Given the description of an element on the screen output the (x, y) to click on. 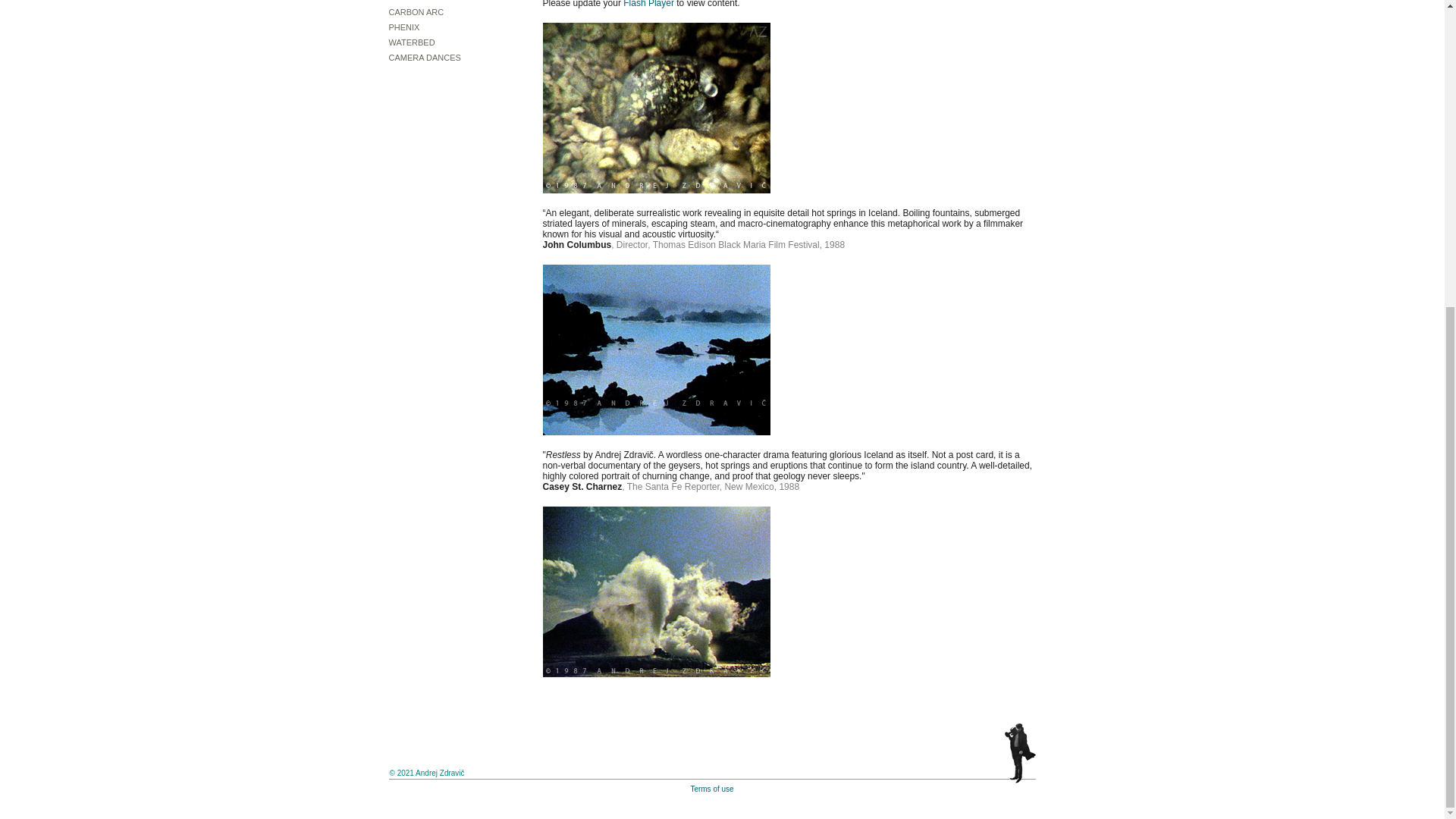
CARBON ARC (448, 11)
PHENIX (448, 27)
WATERBED (448, 42)
SUNHOPSOON (448, 2)
